Given the description of an element on the screen output the (x, y) to click on. 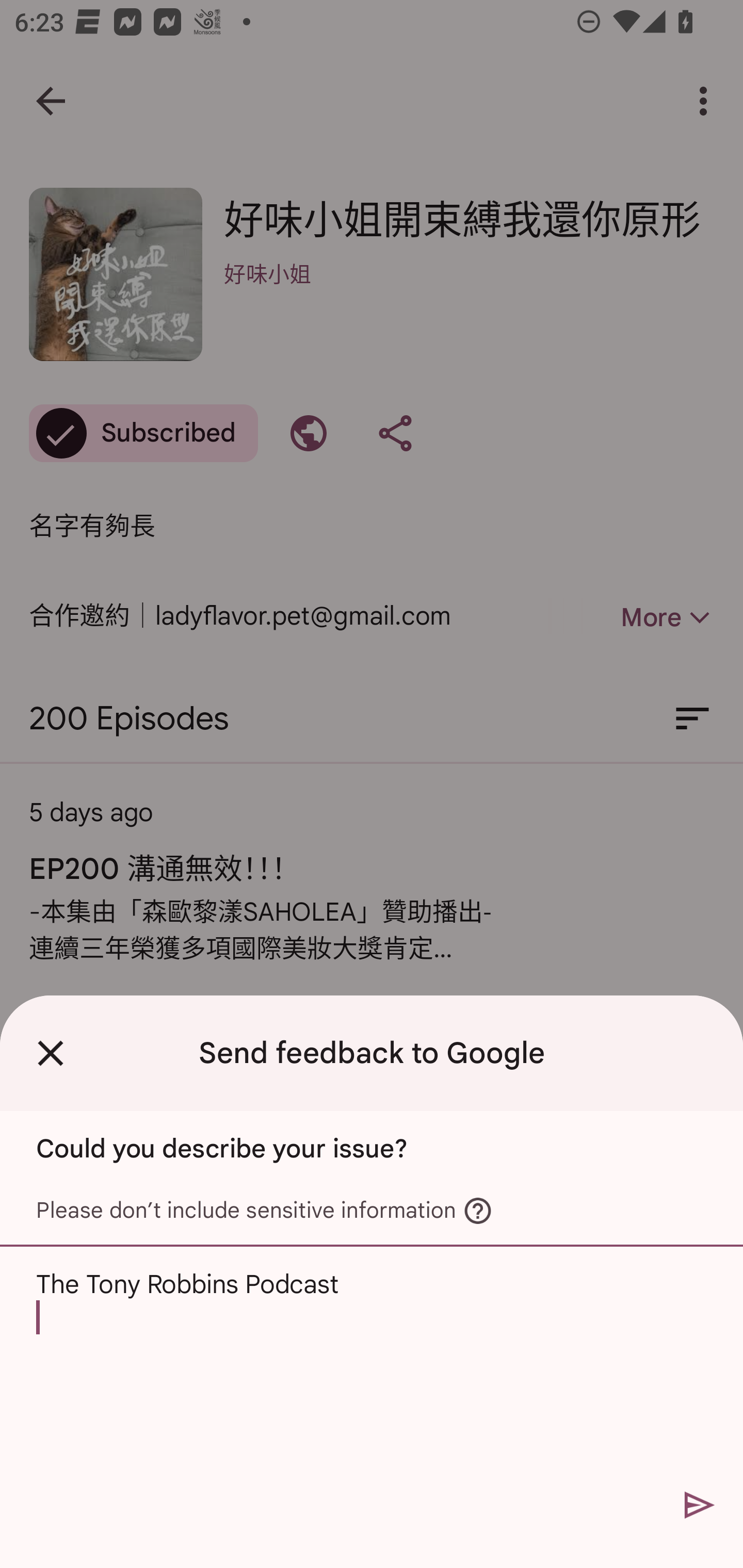
Close Feedback (50, 1052)
The Tony Robbins Podcast
 (371, 1362)
Submit the feedback that you entered (699, 1504)
